Given the description of an element on the screen output the (x, y) to click on. 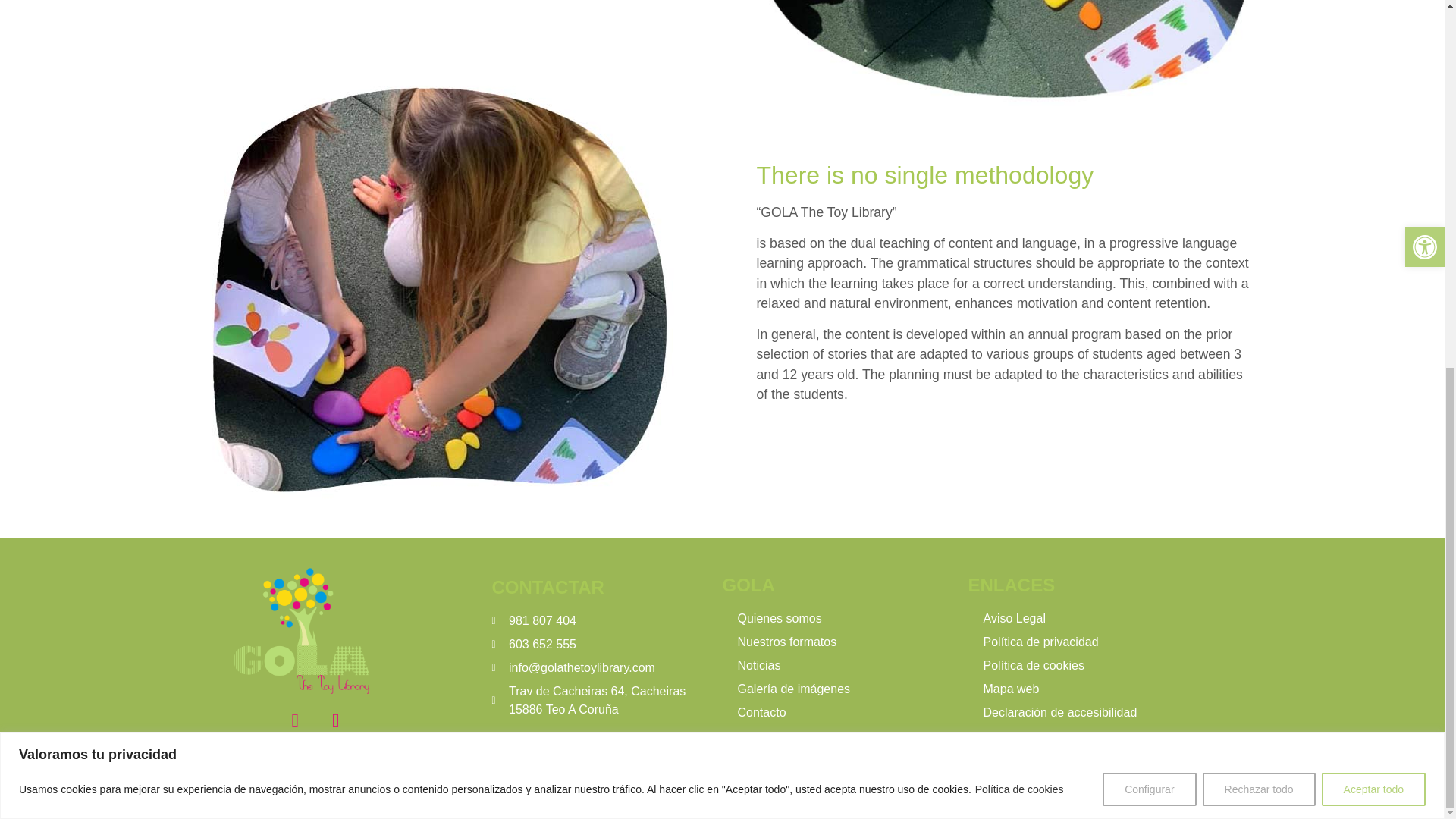
Configurar (1148, 123)
Rechazar todo (1259, 123)
Aceptar todo (1373, 123)
